Given the description of an element on the screen output the (x, y) to click on. 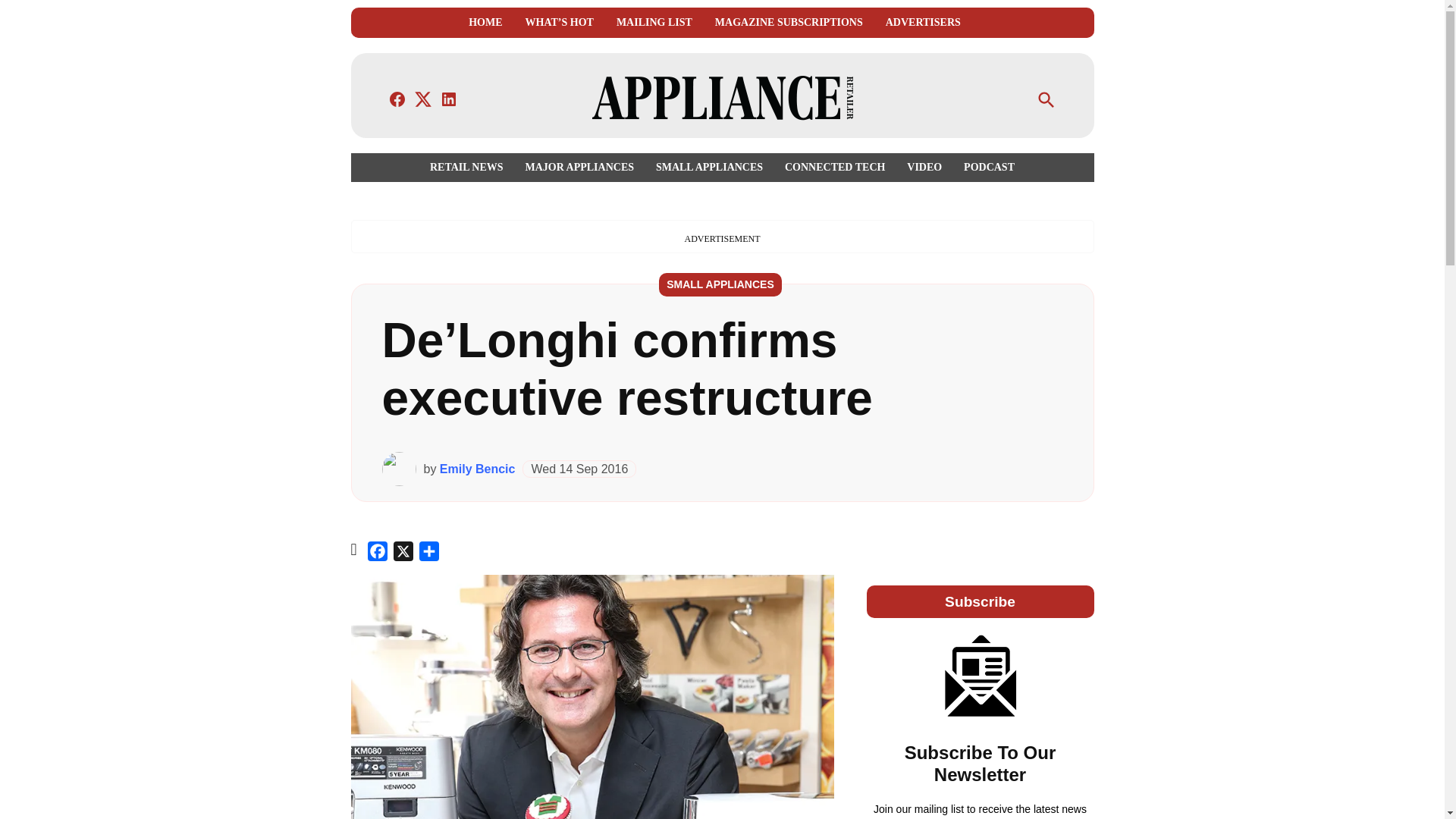
HOME (484, 22)
VIDEO (924, 167)
Facebook (377, 554)
CONNECTED TECH (834, 167)
TWITTER (422, 99)
Appliance Retailer (983, 109)
Facebook (377, 554)
LINKEDIN (448, 99)
Emily Bencic (477, 468)
